Given the description of an element on the screen output the (x, y) to click on. 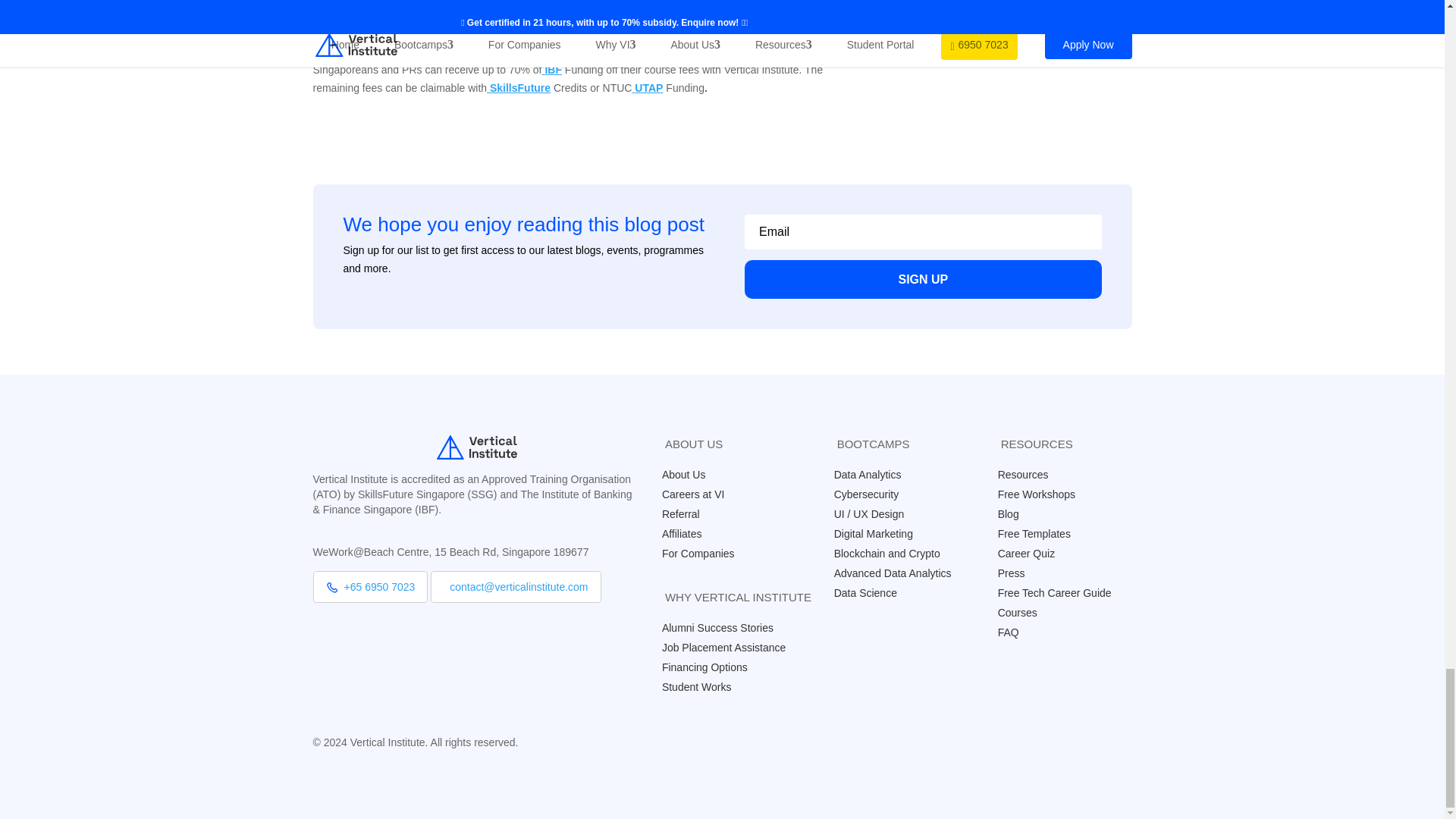
Vertical Institute Logo (476, 446)
Vertical Institute (353, 5)
